Given the description of an element on the screen output the (x, y) to click on. 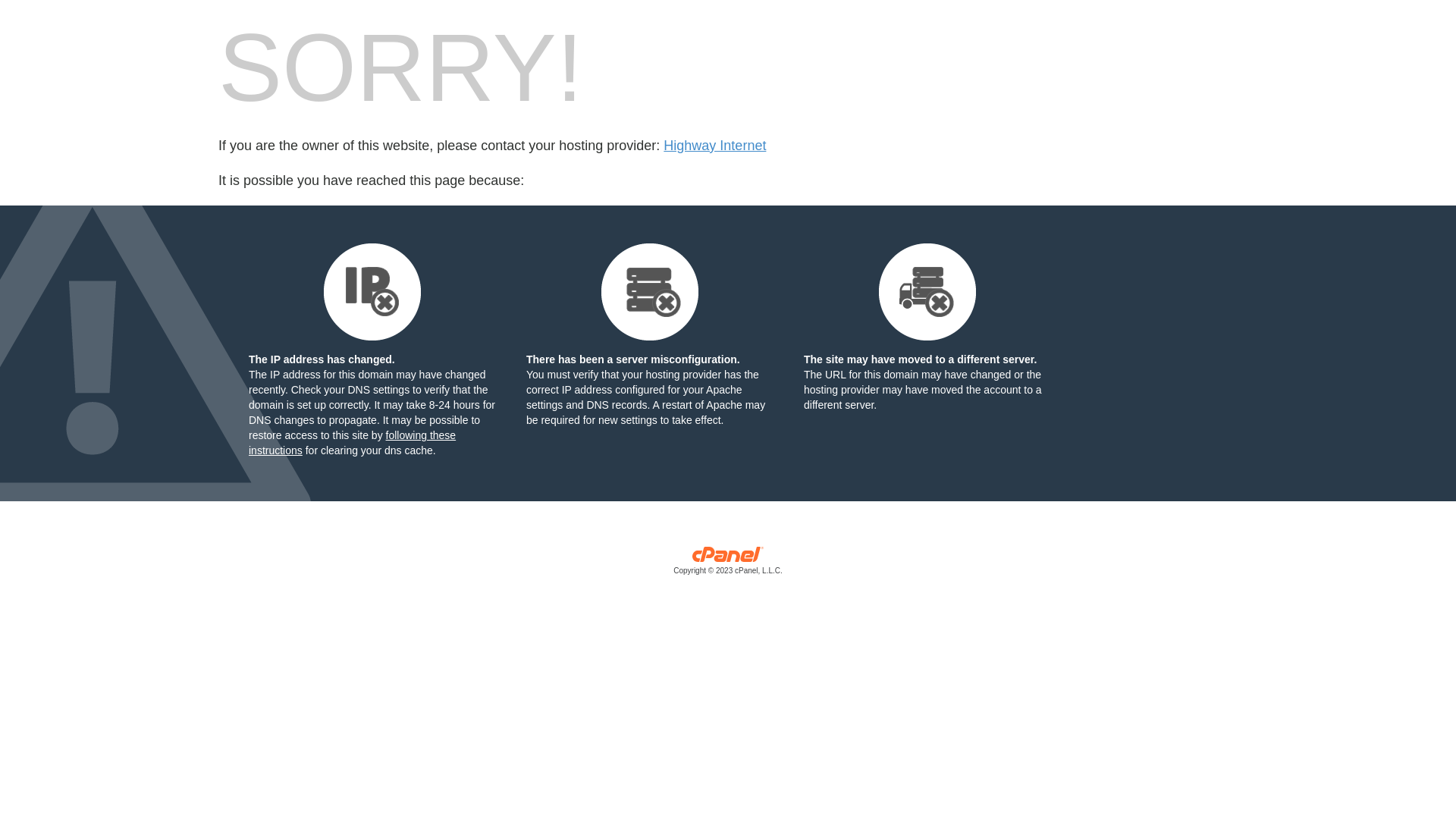
following these instructions Element type: text (351, 442)
Highway Internet Element type: text (714, 145)
